Given the description of an element on the screen output the (x, y) to click on. 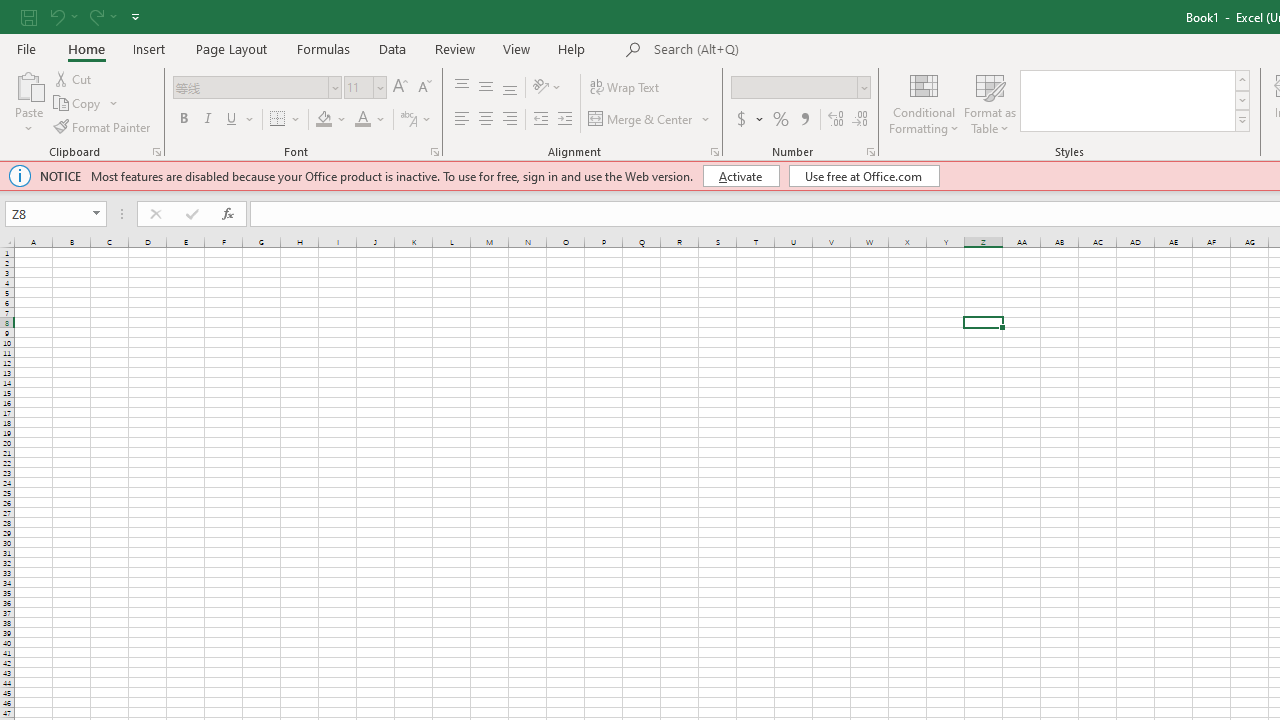
Format Cell Alignment (714, 151)
Microsoft search (792, 49)
Number Format (800, 87)
Align Left (461, 119)
Copy (85, 103)
Font Size (365, 87)
Name Box (46, 214)
Cut (73, 78)
Data (392, 48)
Decrease Font Size (424, 87)
Class: NetUIImage (1242, 120)
Customize Quick Access Toolbar (135, 15)
Top Align (461, 87)
Decrease Decimal (859, 119)
Number Format (794, 87)
